Given the description of an element on the screen output the (x, y) to click on. 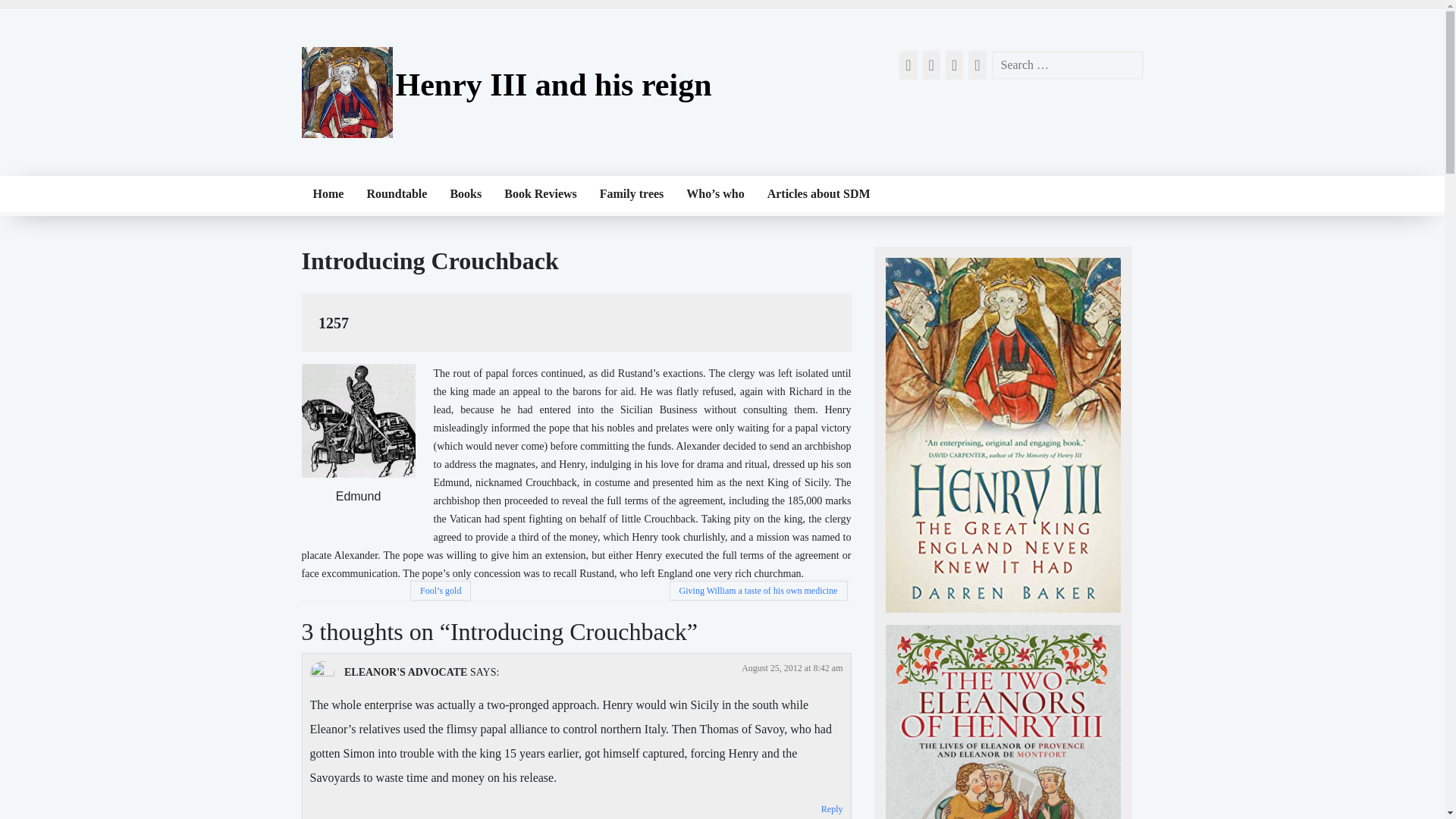
Books (465, 194)
Roundtable (396, 194)
Articles about SDM (818, 194)
Book Reviews (540, 194)
Family trees (631, 194)
Search (22, 9)
Henry III and his reign (553, 84)
Home (328, 194)
